Given the description of an element on the screen output the (x, y) to click on. 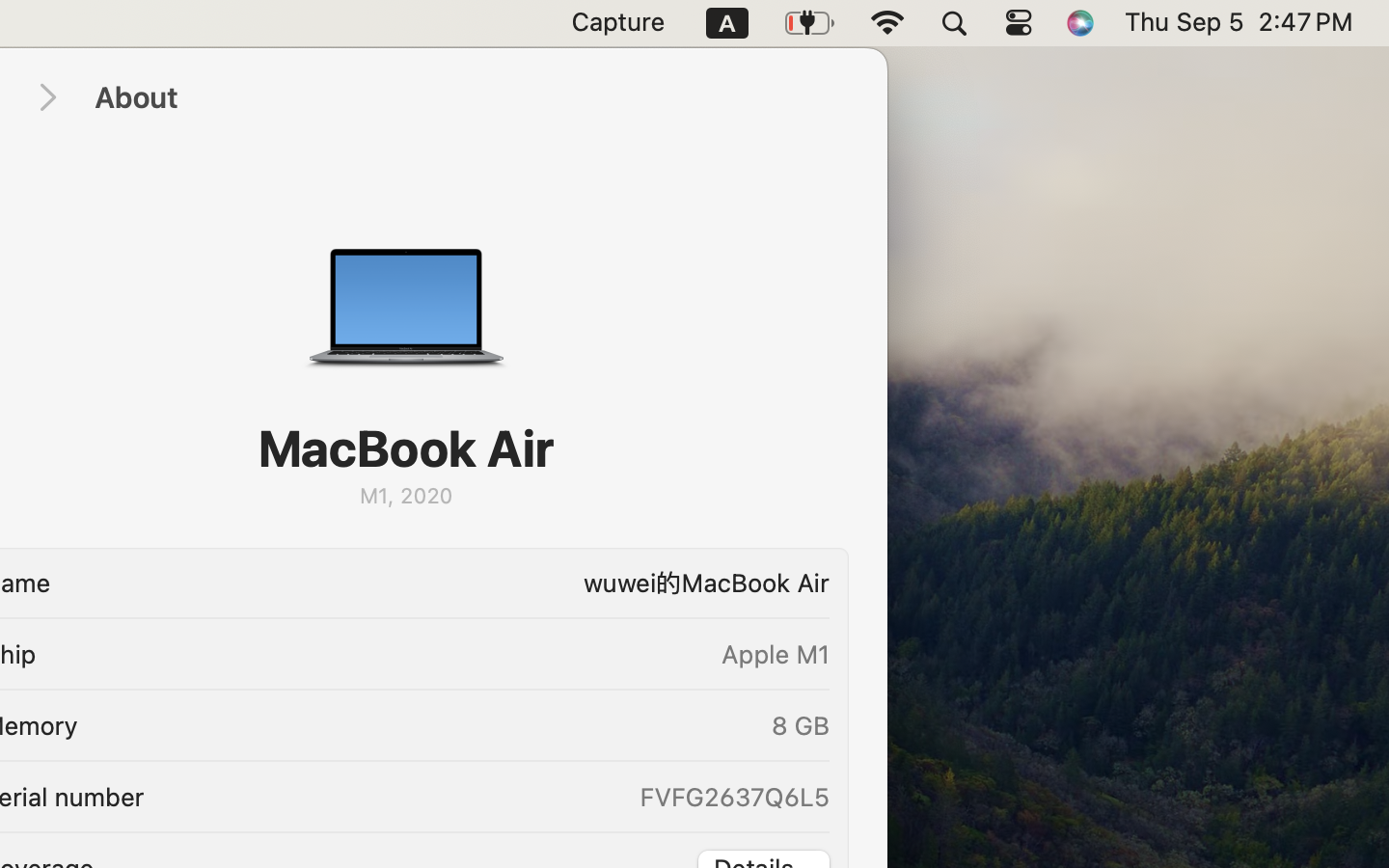
wuwei的MacBook Air Element type: AXTextField (446, 582)
About Element type: AXStaticText (470, 98)
